Given the description of an element on the screen output the (x, y) to click on. 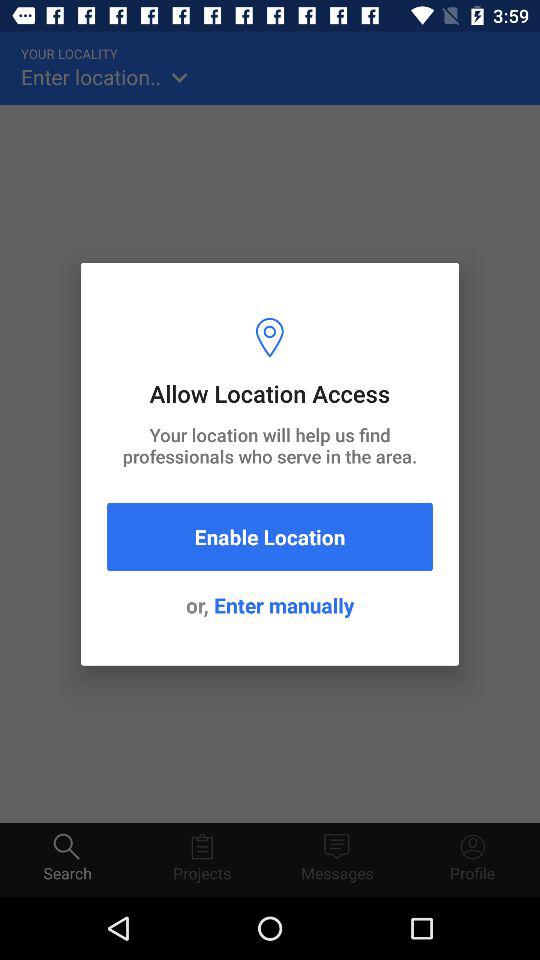
open the or, enter manually (269, 605)
